Given the description of an element on the screen output the (x, y) to click on. 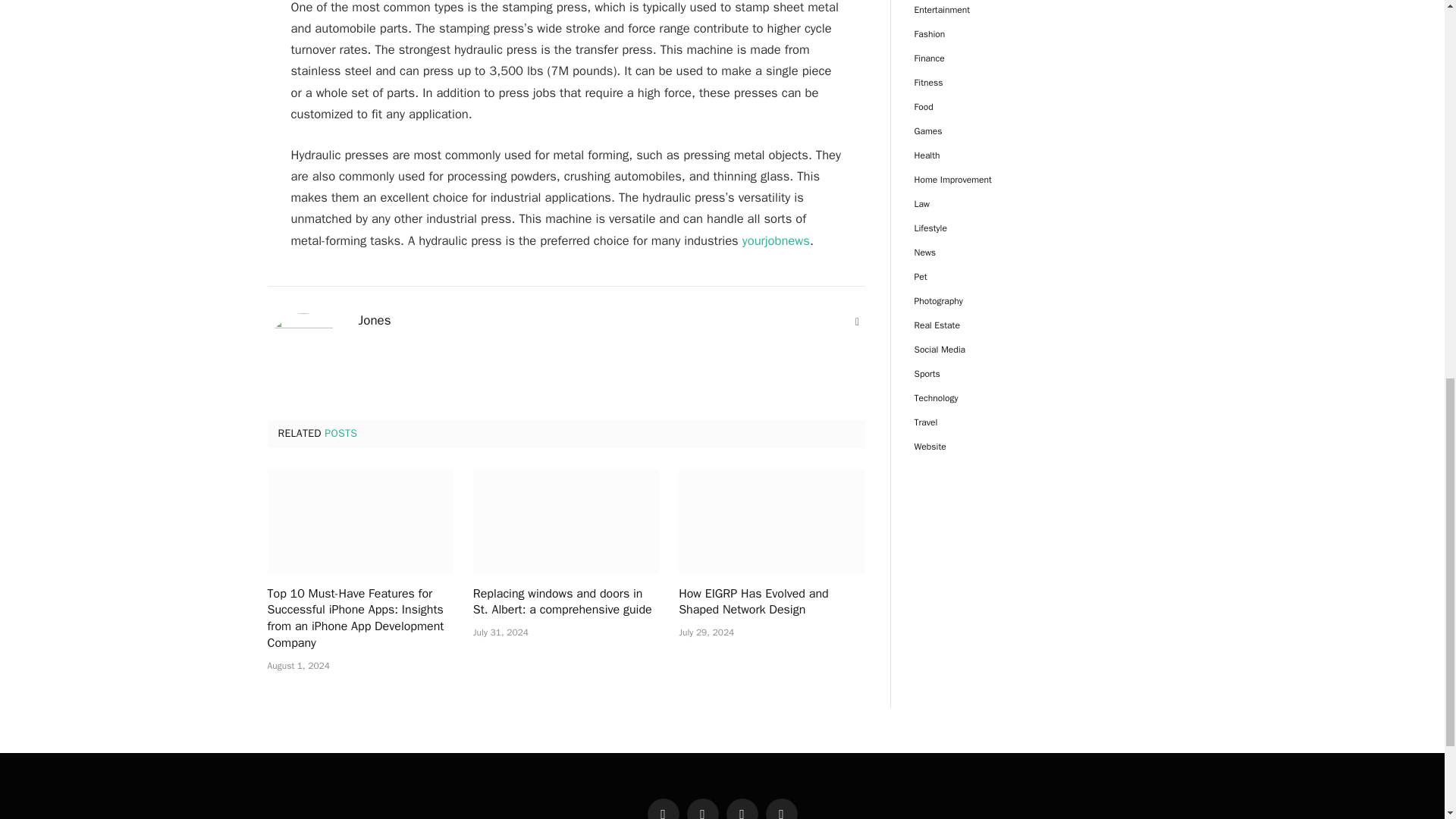
Jones (374, 320)
Website (856, 322)
Website (856, 322)
How EIGRP Has Evolved and Shaped Network Design (771, 521)
yourjobnews (775, 240)
Posts by Jones (374, 320)
How EIGRP Has Evolved and Shaped Network Design (771, 602)
